Given the description of an element on the screen output the (x, y) to click on. 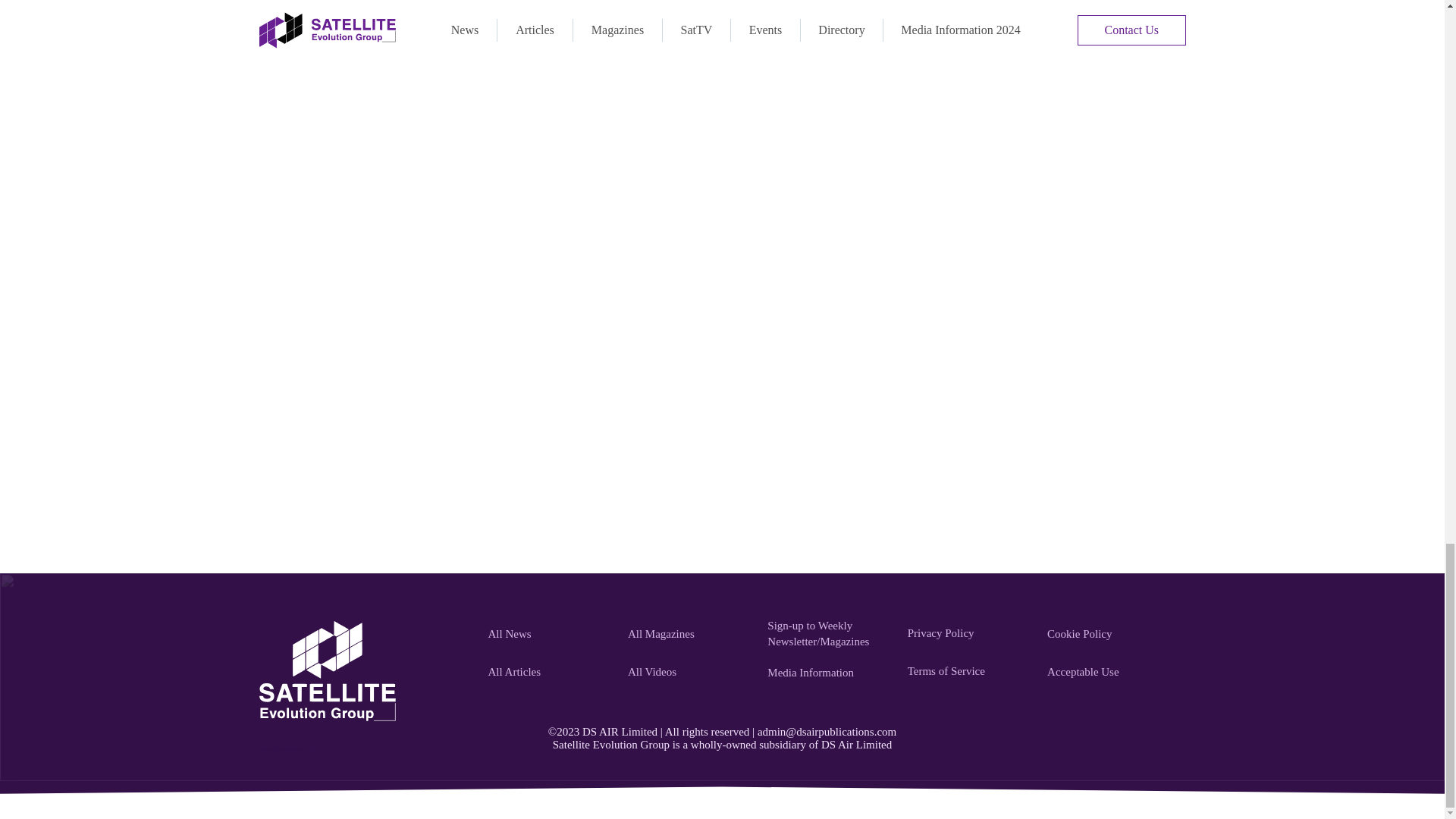
All Videos (689, 672)
All Articles (549, 672)
Media Information (828, 672)
All Magazines (689, 634)
Cookie Policy (1108, 634)
All News (549, 634)
Acceptable Use (1108, 672)
Privacy Policy (968, 633)
Terms of Service (968, 671)
